Given the description of an element on the screen output the (x, y) to click on. 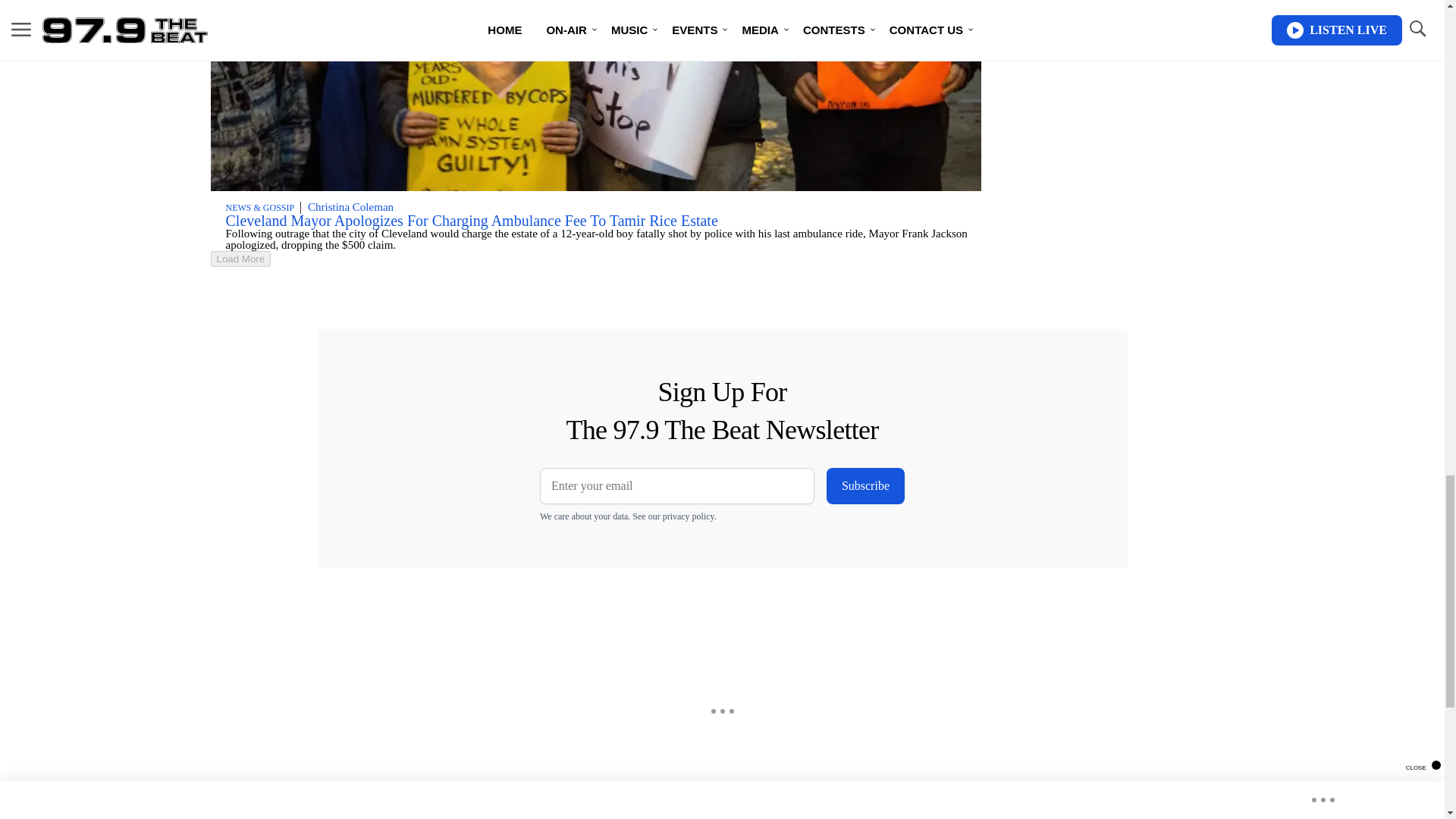
Load More (240, 258)
Load More (596, 258)
